Given the description of an element on the screen output the (x, y) to click on. 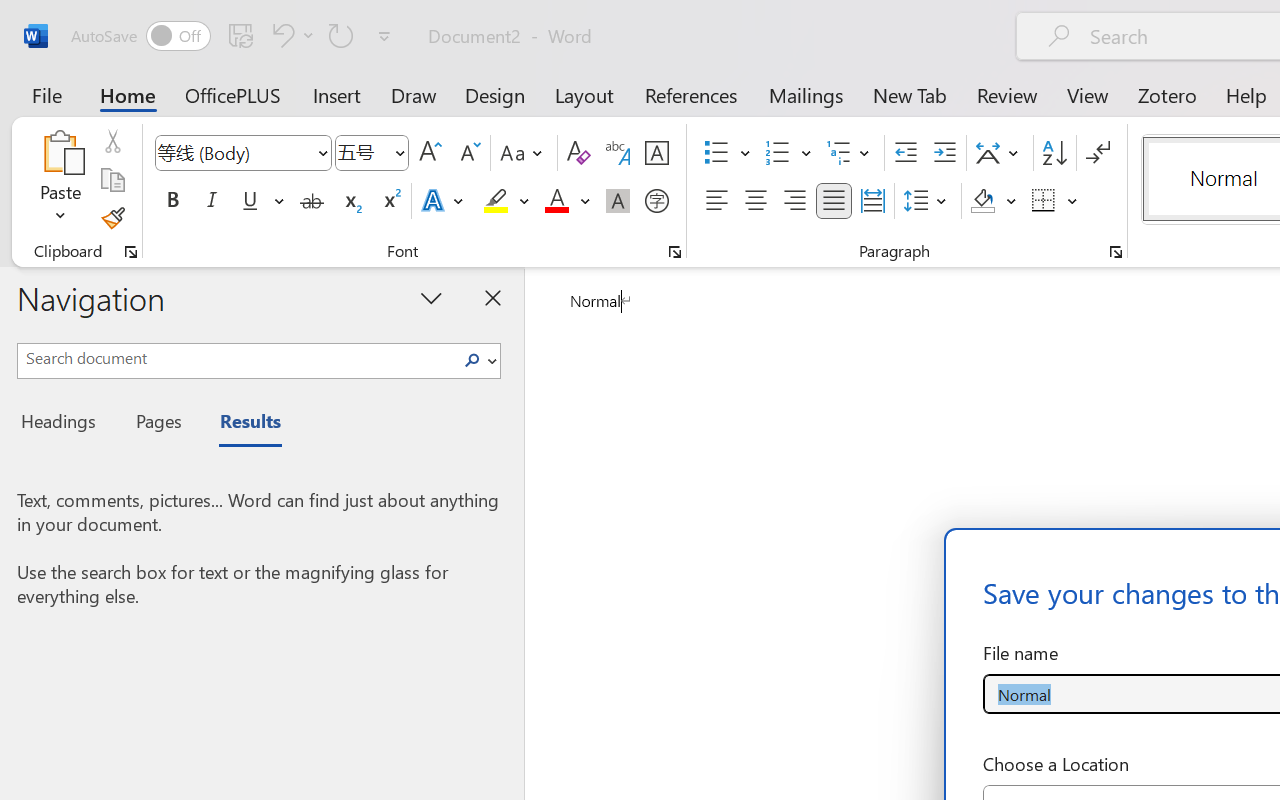
Increase Indent (944, 153)
Center (756, 201)
View (1087, 94)
Pages (156, 424)
Justify (834, 201)
Clear Formatting (578, 153)
Show/Hide Editing Marks (1098, 153)
Undo Apply Quick Style (280, 35)
Draw (413, 94)
Phonetic Guide... (618, 153)
Paragraph... (1115, 252)
